Given the description of an element on the screen output the (x, y) to click on. 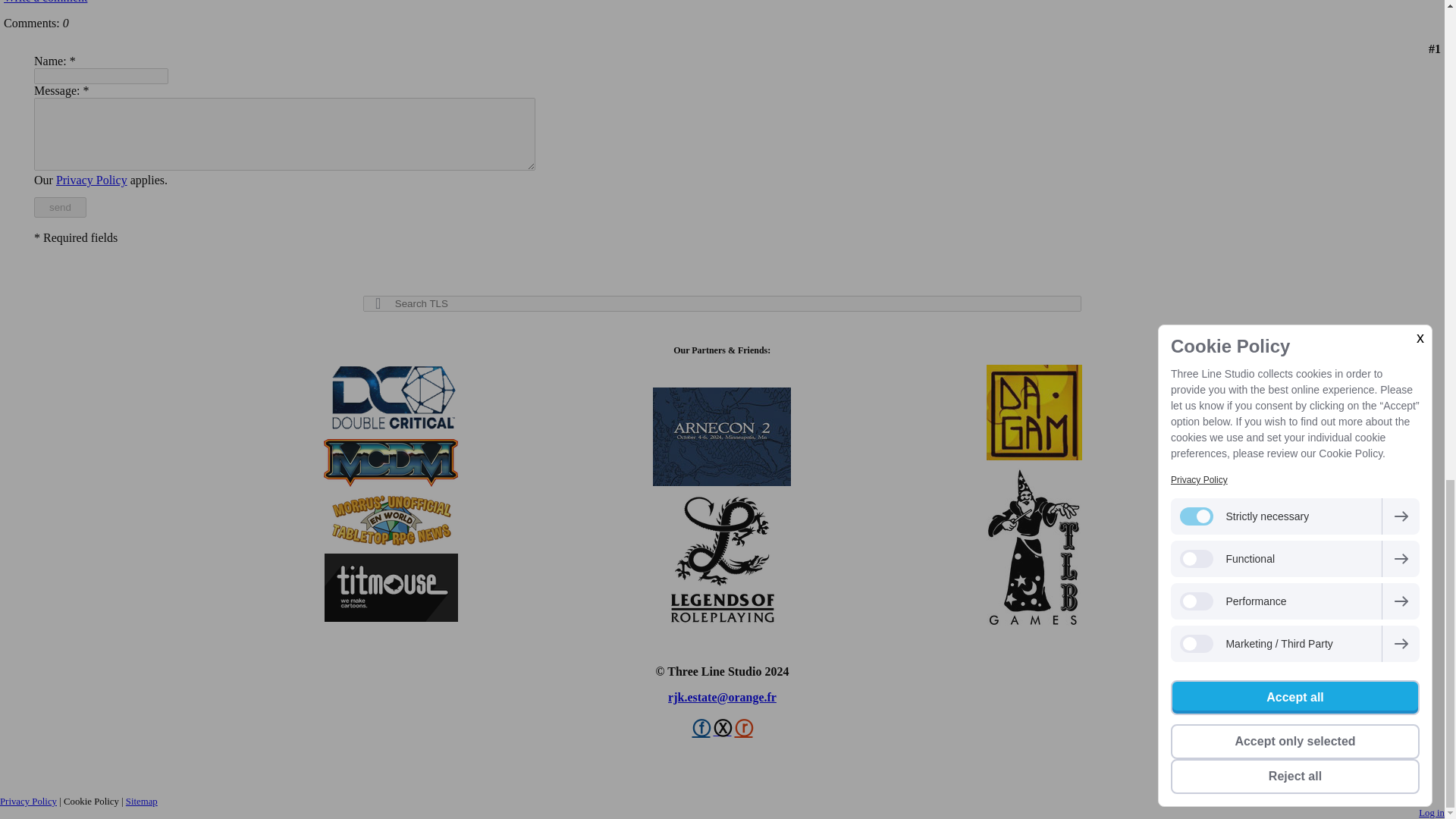
send (59, 207)
